Given the description of an element on the screen output the (x, y) to click on. 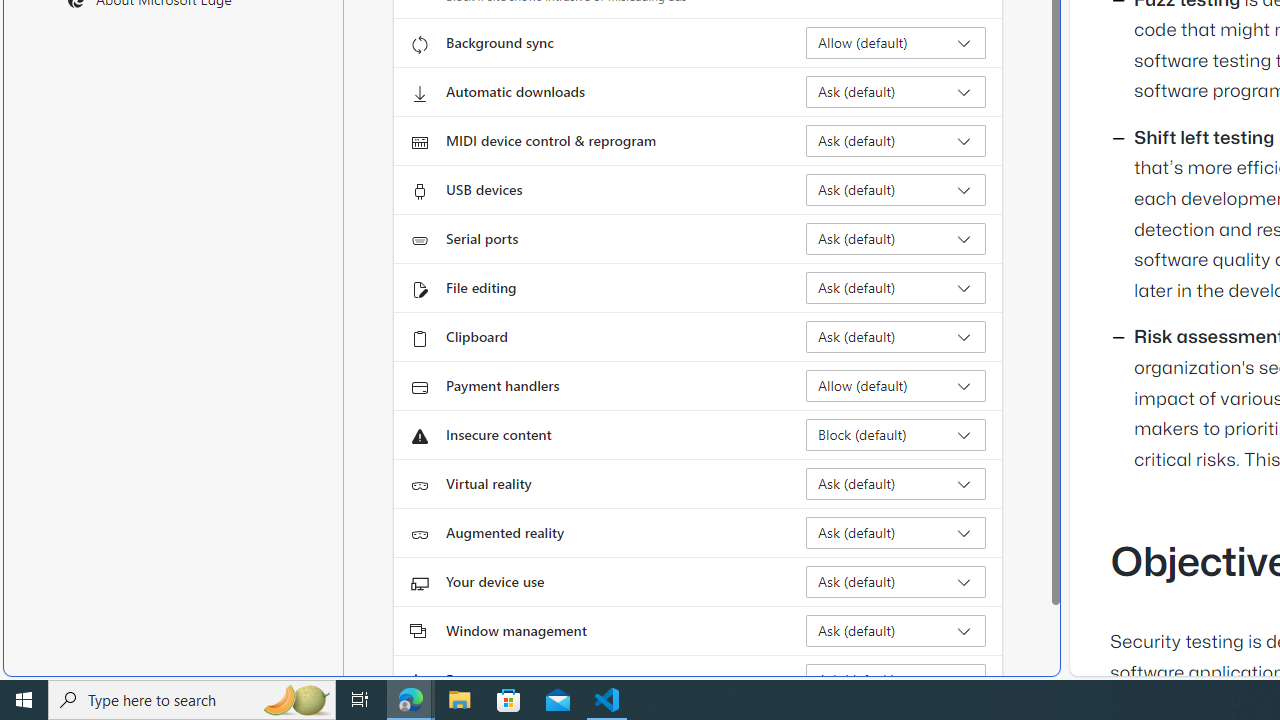
Window management Ask (default) (895, 630)
MIDI device control & reprogram Ask (default) (895, 140)
Clipboard Ask (default) (895, 336)
Serial ports Ask (default) (895, 238)
Insecure content Block (default) (895, 434)
Your device use Ask (default) (895, 581)
File editing Ask (default) (895, 287)
Automatic downloads Ask (default) (895, 92)
Background sync Allow (default) (895, 43)
Payment handlers Allow (default) (895, 385)
Virtual reality Ask (default) (895, 483)
Augmented reality Ask (default) (895, 532)
Fonts Ask (default) (895, 679)
USB devices Ask (default) (895, 189)
